Given the description of an element on the screen output the (x, y) to click on. 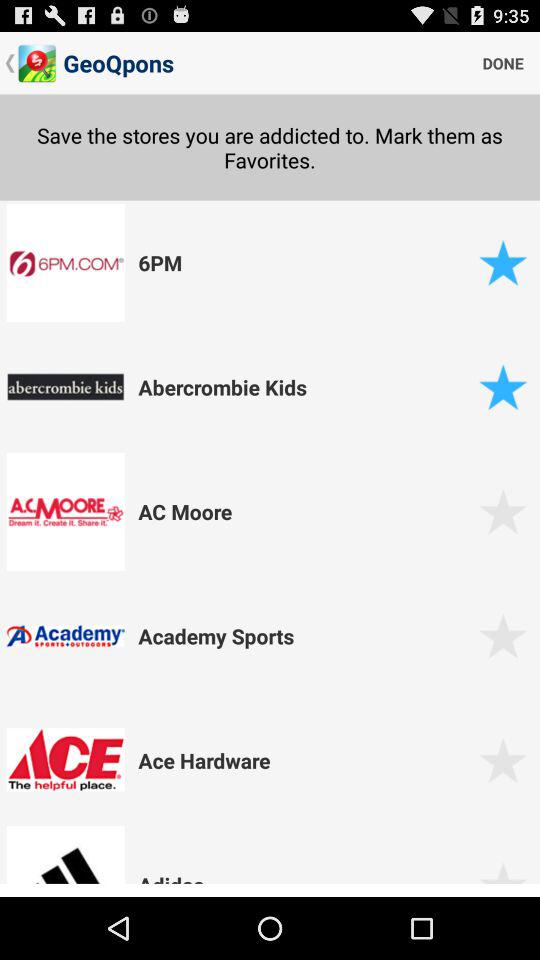
favourite (502, 386)
